Given the description of an element on the screen output the (x, y) to click on. 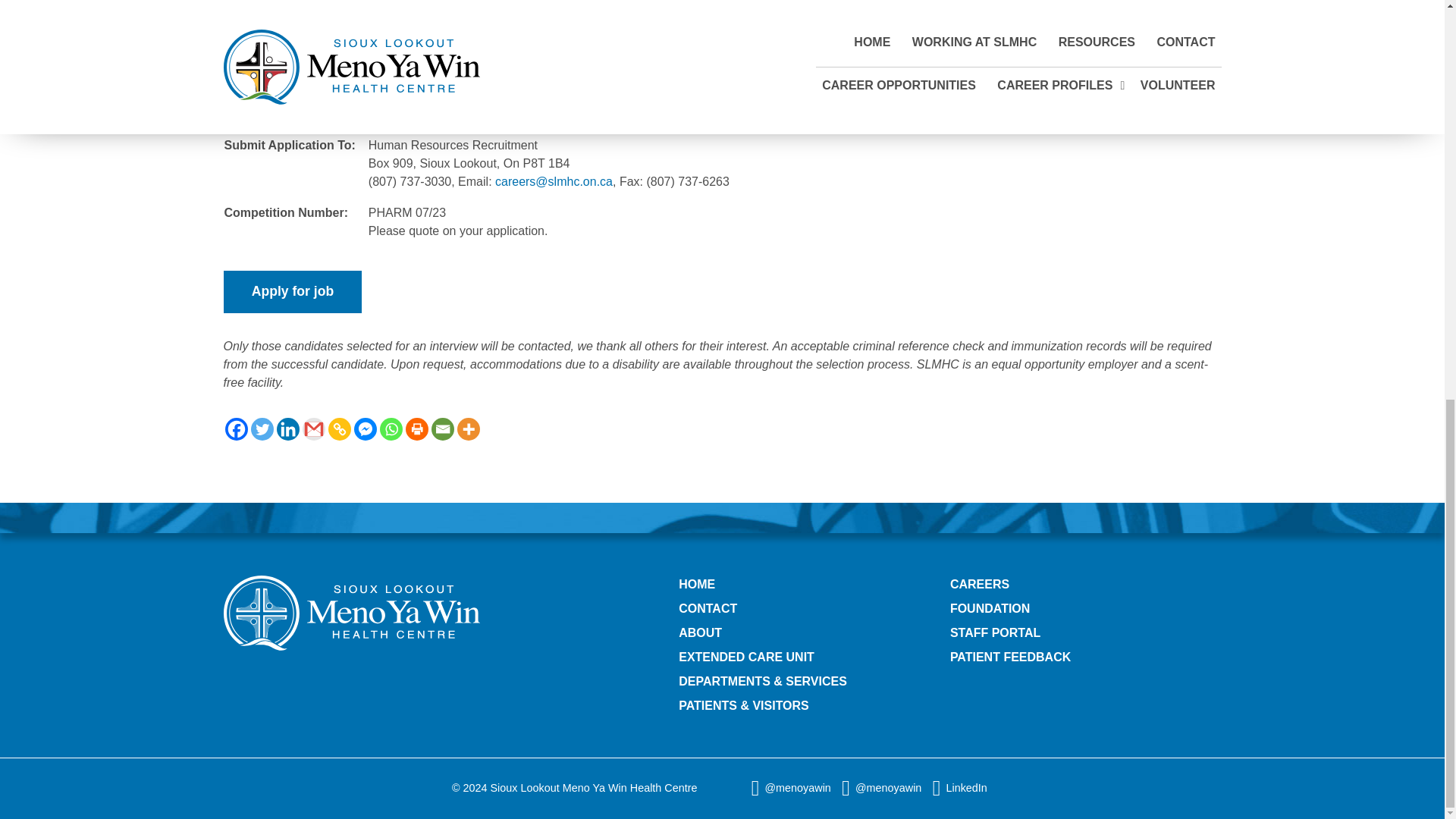
Whatsapp (389, 428)
Apply for job (291, 292)
Print (416, 428)
Facebook (235, 428)
Email (441, 428)
Twitter (261, 428)
Copy Link (338, 428)
Google Gmail (312, 428)
Linkedin (287, 428)
More (468, 428)
